Given the description of an element on the screen output the (x, y) to click on. 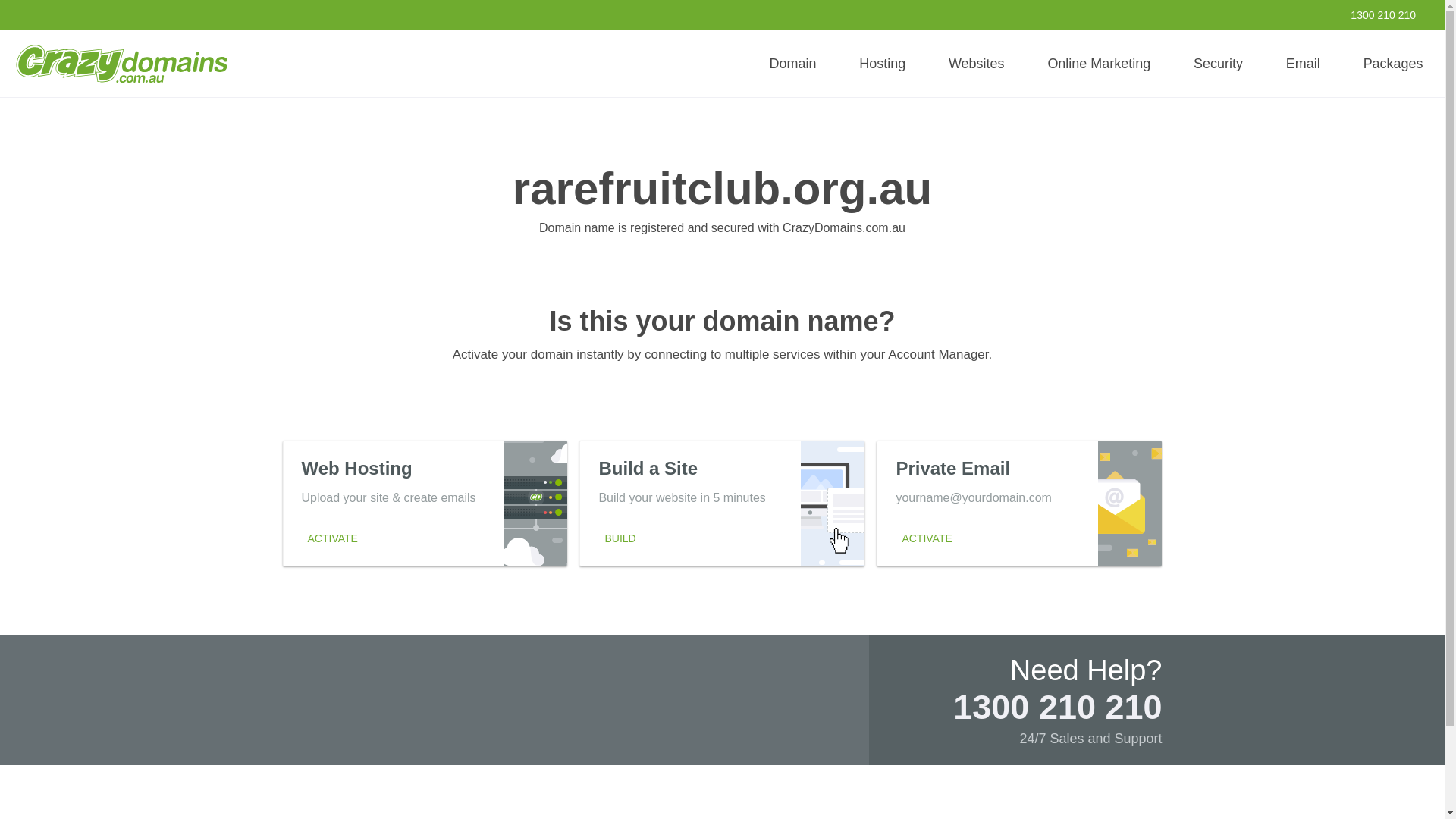
1300 210 210 (1373, 15)
1300 210 210 (1057, 706)
Packages (1392, 63)
Domain (792, 63)
Security (1218, 63)
Online Marketing (1099, 63)
Websites (976, 63)
